Given the description of an element on the screen output the (x, y) to click on. 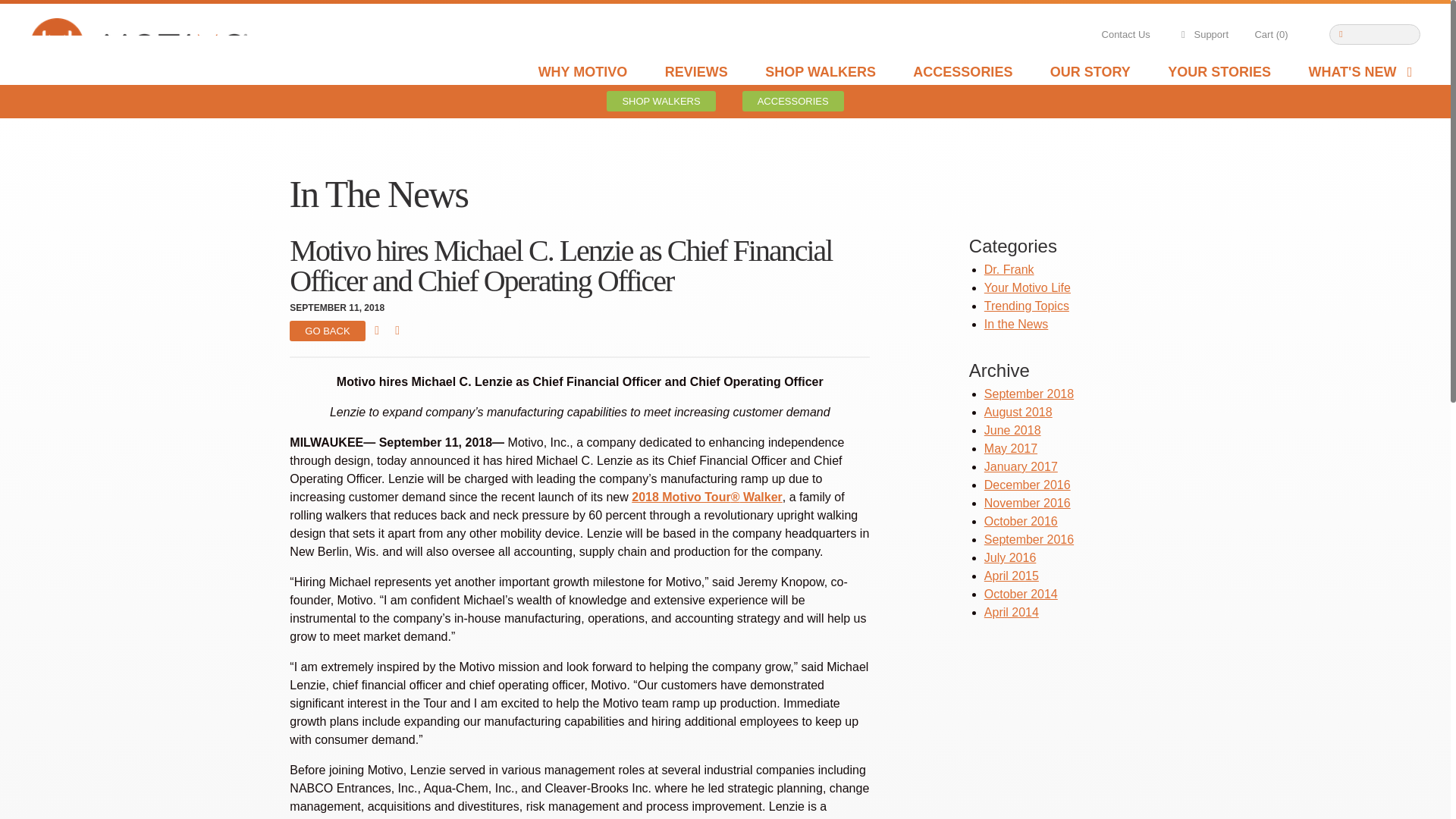
WHAT'S NEW (1362, 71)
Trending Topics (1026, 305)
Contact Us (1125, 34)
Dr. Frank (1008, 269)
Your Motivo Life (1027, 287)
YOUR STORIES (1219, 71)
WHY MOTIVO (582, 71)
REVIEWS (696, 71)
In the News (1016, 323)
GO BACK (327, 331)
